Given the description of an element on the screen output the (x, y) to click on. 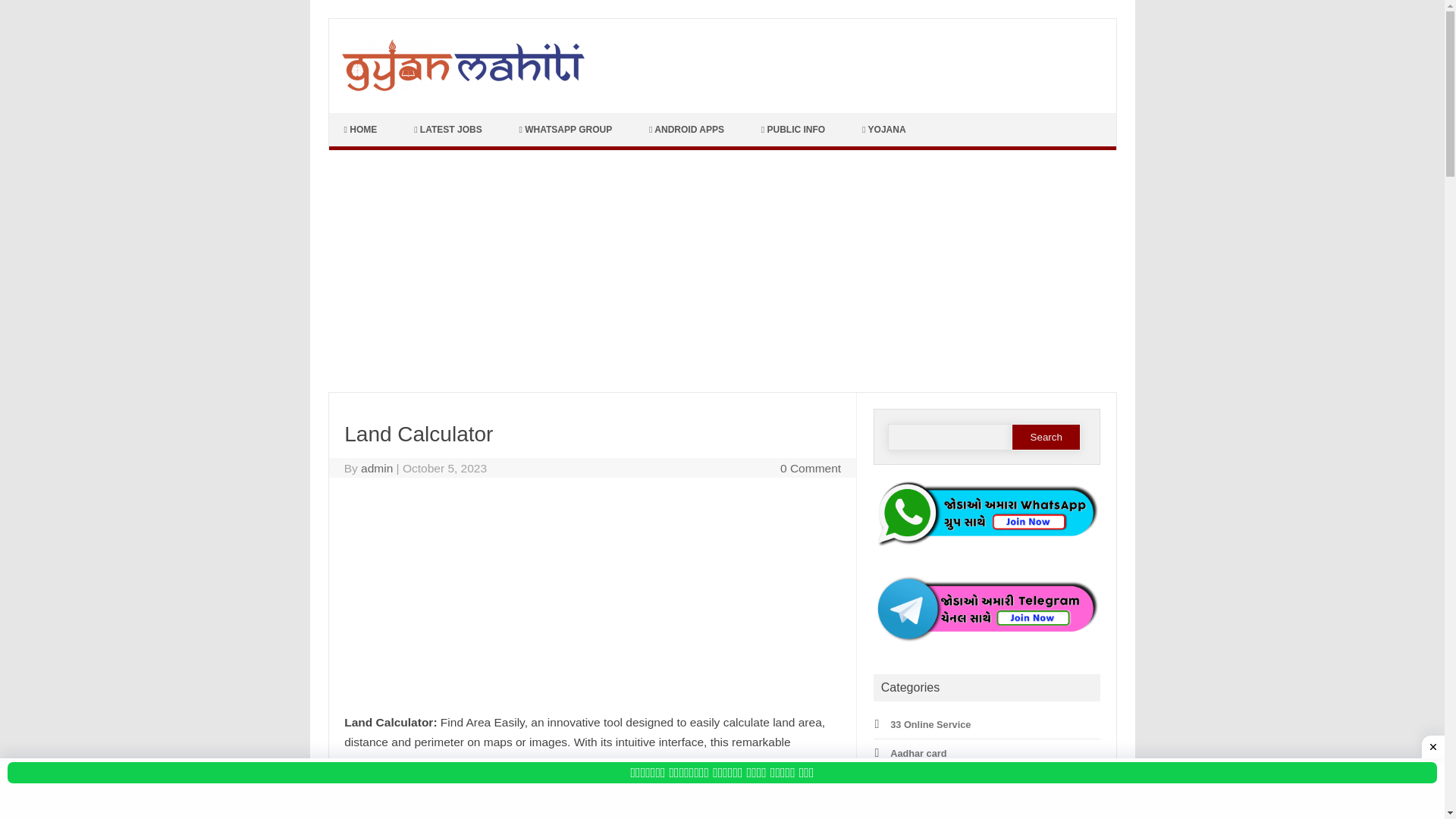
Search (1045, 437)
GyanMahiti (461, 87)
LATEST JOBS (449, 129)
ANDROID APPS (687, 129)
0 Comment (810, 468)
Android Apps (921, 808)
HOME (362, 129)
Advertisement (591, 600)
Posts by admin (377, 468)
Search (1045, 437)
Aadhar card (917, 753)
Skip to content (363, 118)
admin (377, 468)
Ajab Gajab (914, 781)
